Given the description of an element on the screen output the (x, y) to click on. 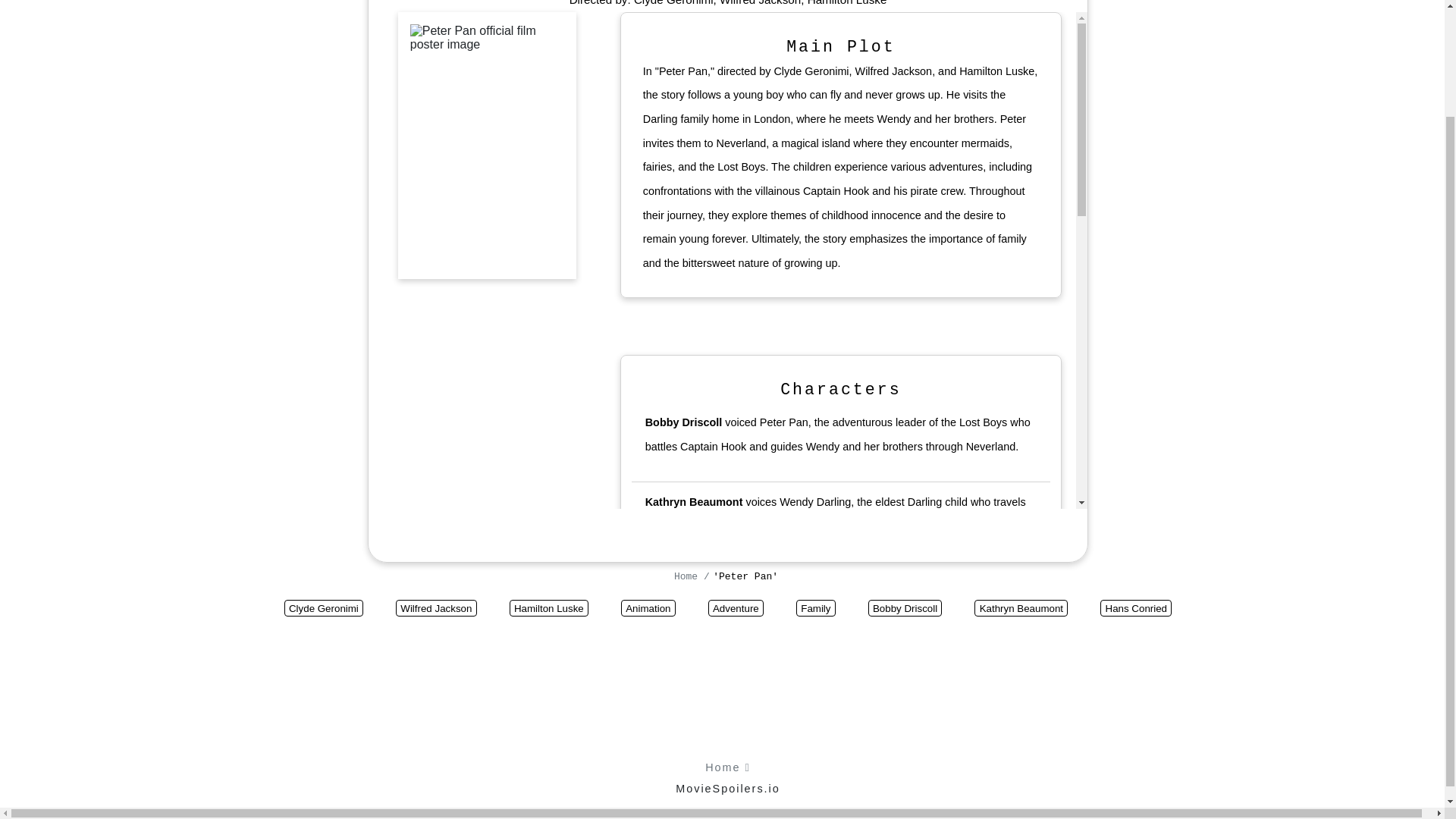
Wilfred Jackson (436, 607)
Hans Conried (680, 605)
Animation (648, 607)
Home (688, 576)
Hamilton Luske (847, 2)
Hamilton Luske (549, 607)
Adventure (734, 607)
Kathryn Beaumont (693, 501)
Hans Conried (1136, 607)
Bobby Driscoll (904, 607)
